Given the description of an element on the screen output the (x, y) to click on. 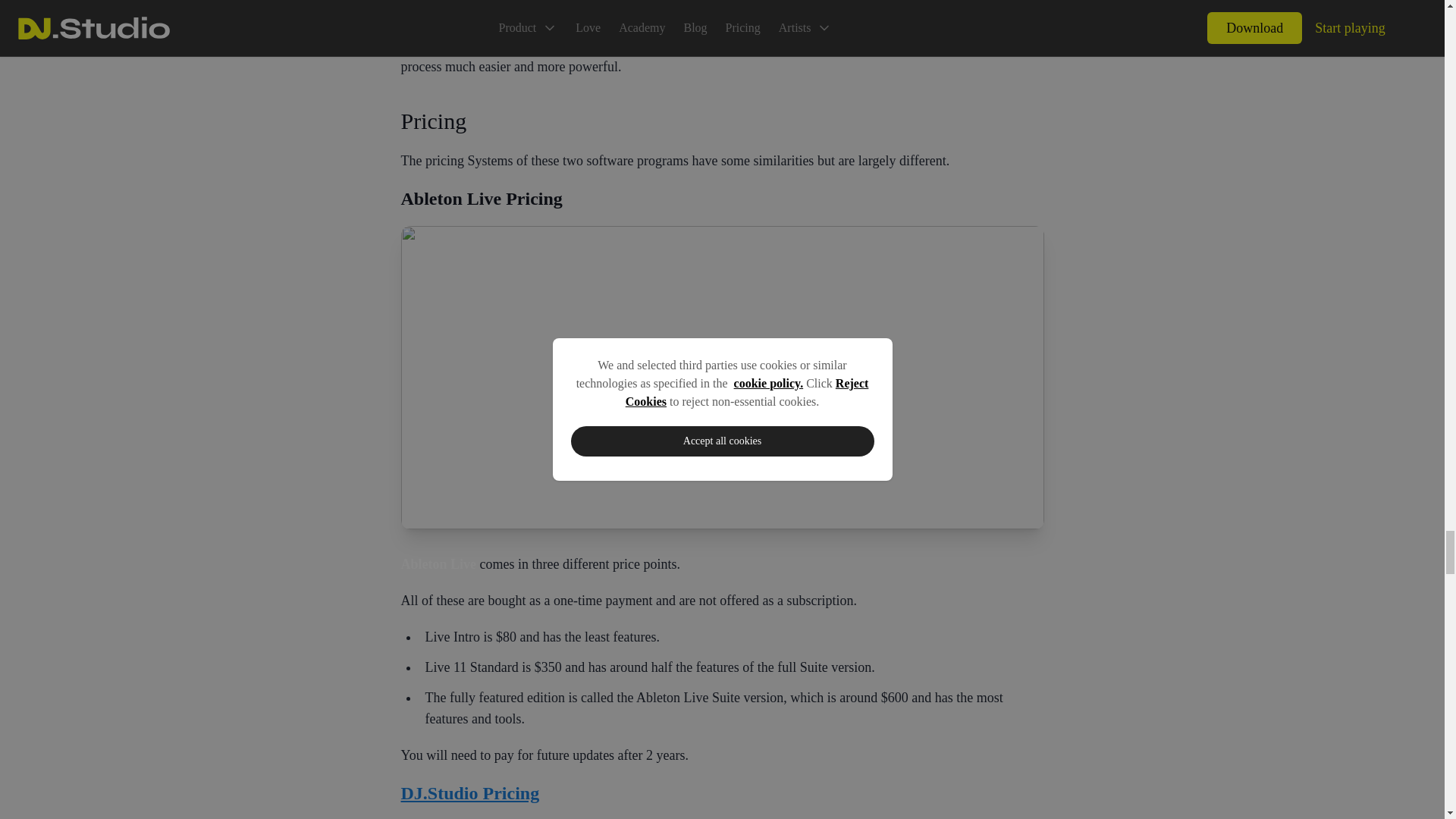
DJ.Studio Pricing (721, 793)
Ableton Live Pricing (721, 198)
Pricing (721, 121)
